Given the description of an element on the screen output the (x, y) to click on. 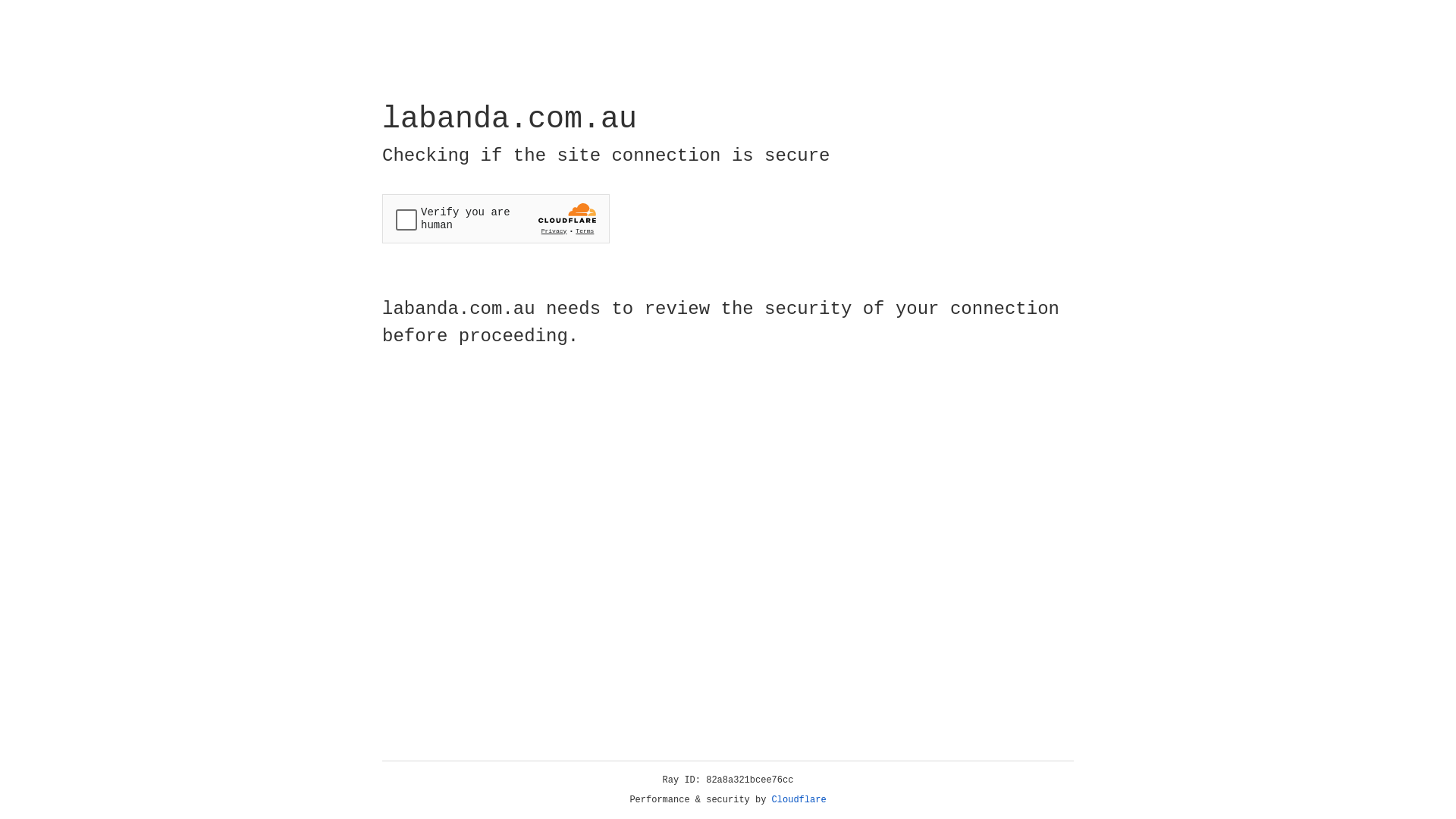
Cloudflare Element type: text (798, 799)
Widget containing a Cloudflare security challenge Element type: hover (495, 218)
